Given the description of an element on the screen output the (x, y) to click on. 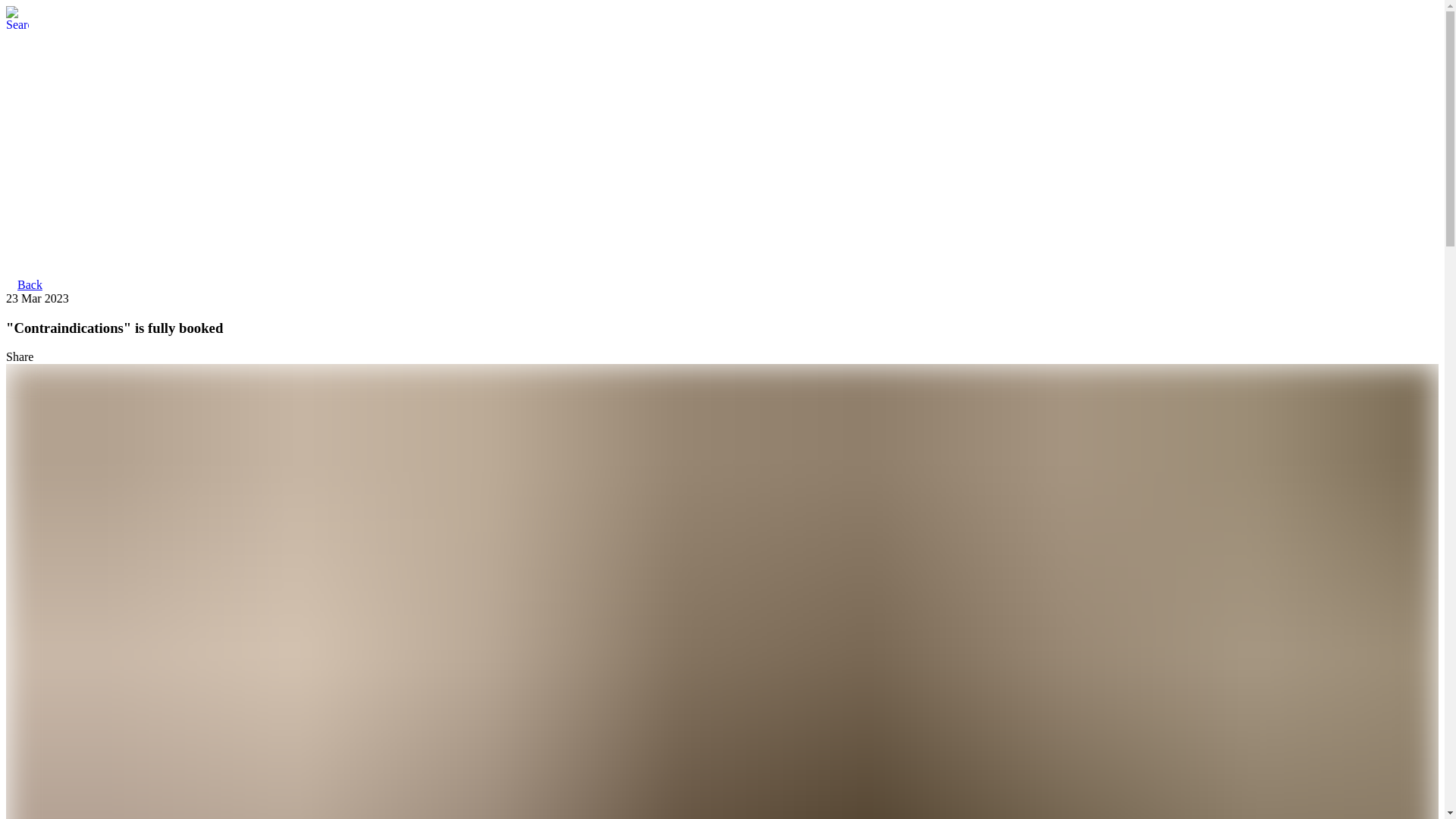
Back (29, 284)
